Given the description of an element on the screen output the (x, y) to click on. 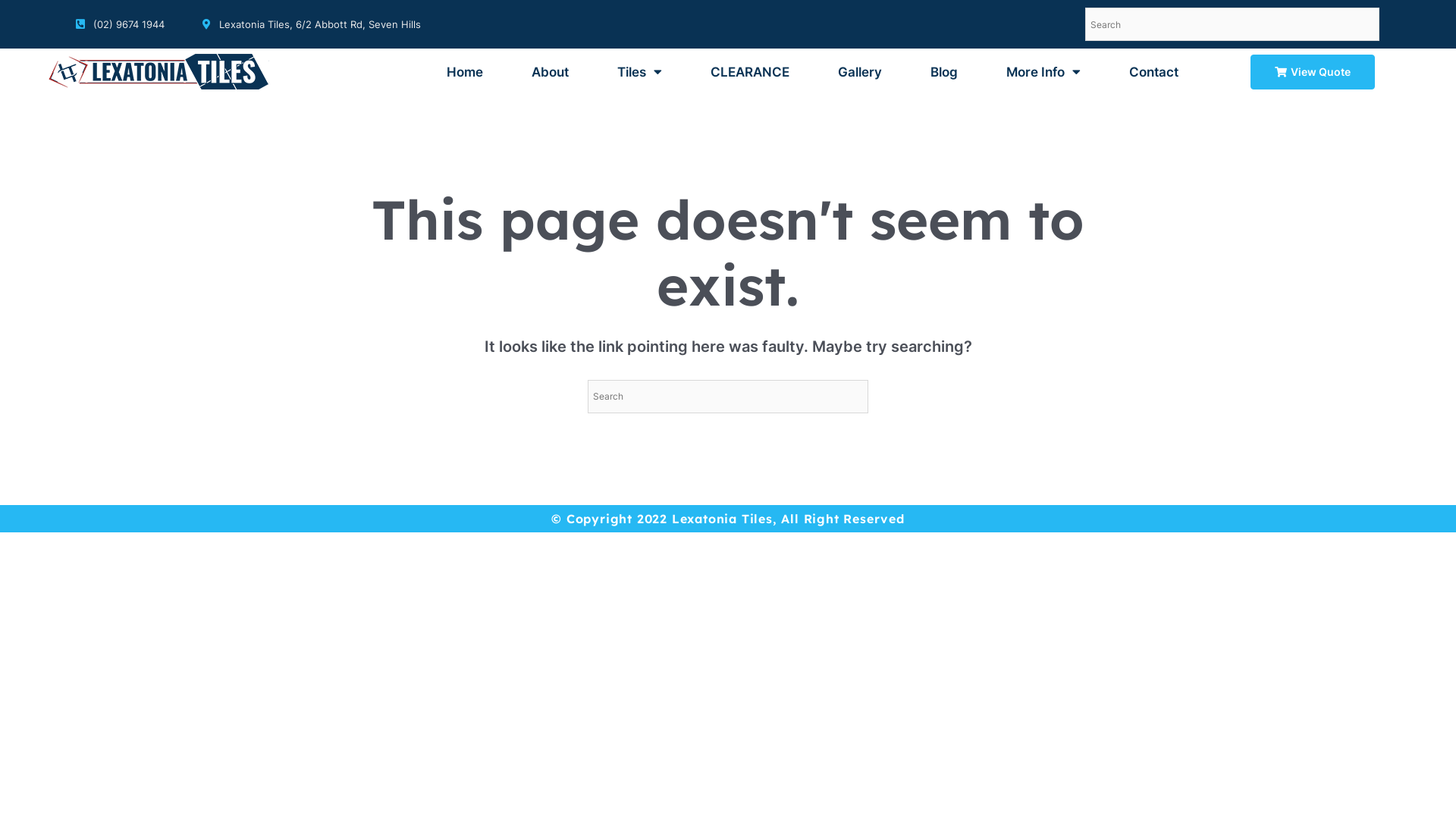
Tiles Element type: text (639, 71)
Home Element type: text (464, 71)
Contact Element type: text (1153, 71)
About Element type: text (549, 71)
CLEARANCE Element type: text (749, 71)
Lexatonia Tiles, 6/2 Abbott Rd, Seven Hills Element type: text (310, 24)
Gallery Element type: text (859, 71)
More Info Element type: text (1043, 71)
View Quote Element type: text (1312, 71)
Blog Element type: text (943, 71)
(02) 9674 1944 Element type: text (119, 24)
